Given the description of an element on the screen output the (x, y) to click on. 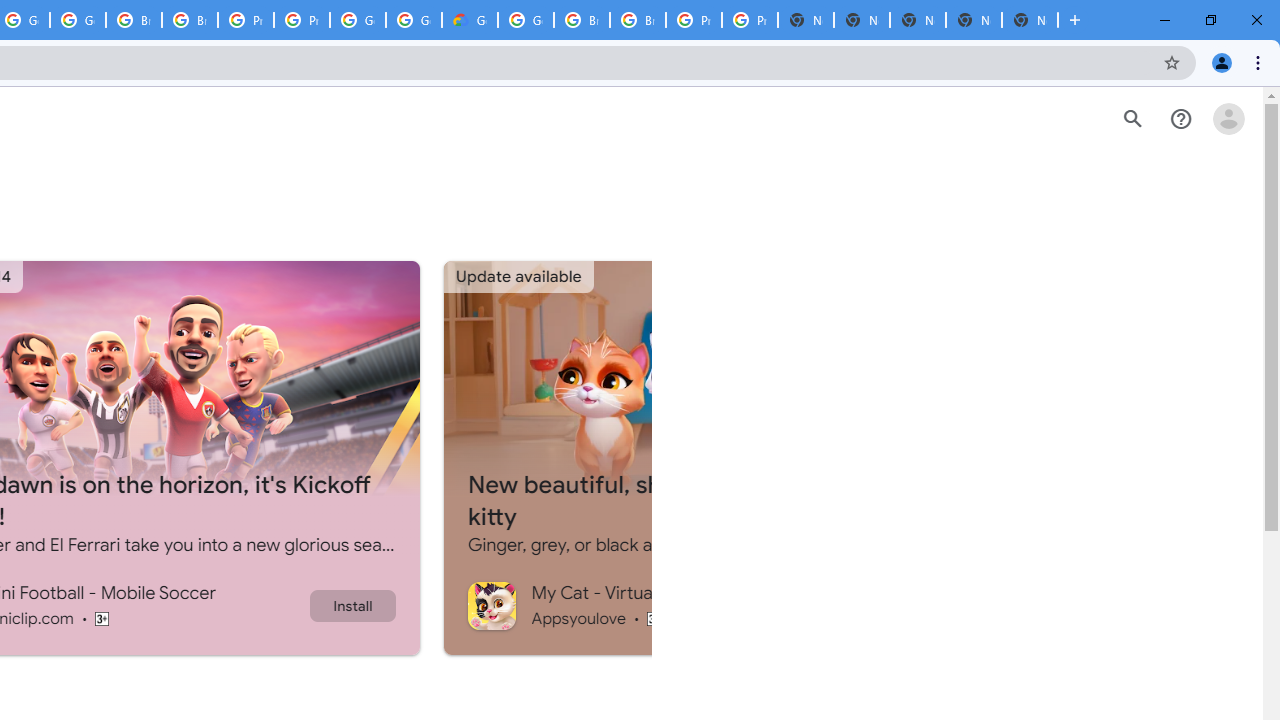
Help Center (1180, 119)
Google Cloud Estimate Summary (469, 20)
Browse Chrome as a guest - Computer - Google Chrome Help (582, 20)
Google Cloud Platform (413, 20)
Browse Chrome as a guest - Computer - Google Chrome Help (134, 20)
Content rating Rated for 3+ (653, 618)
